Given the description of an element on the screen output the (x, y) to click on. 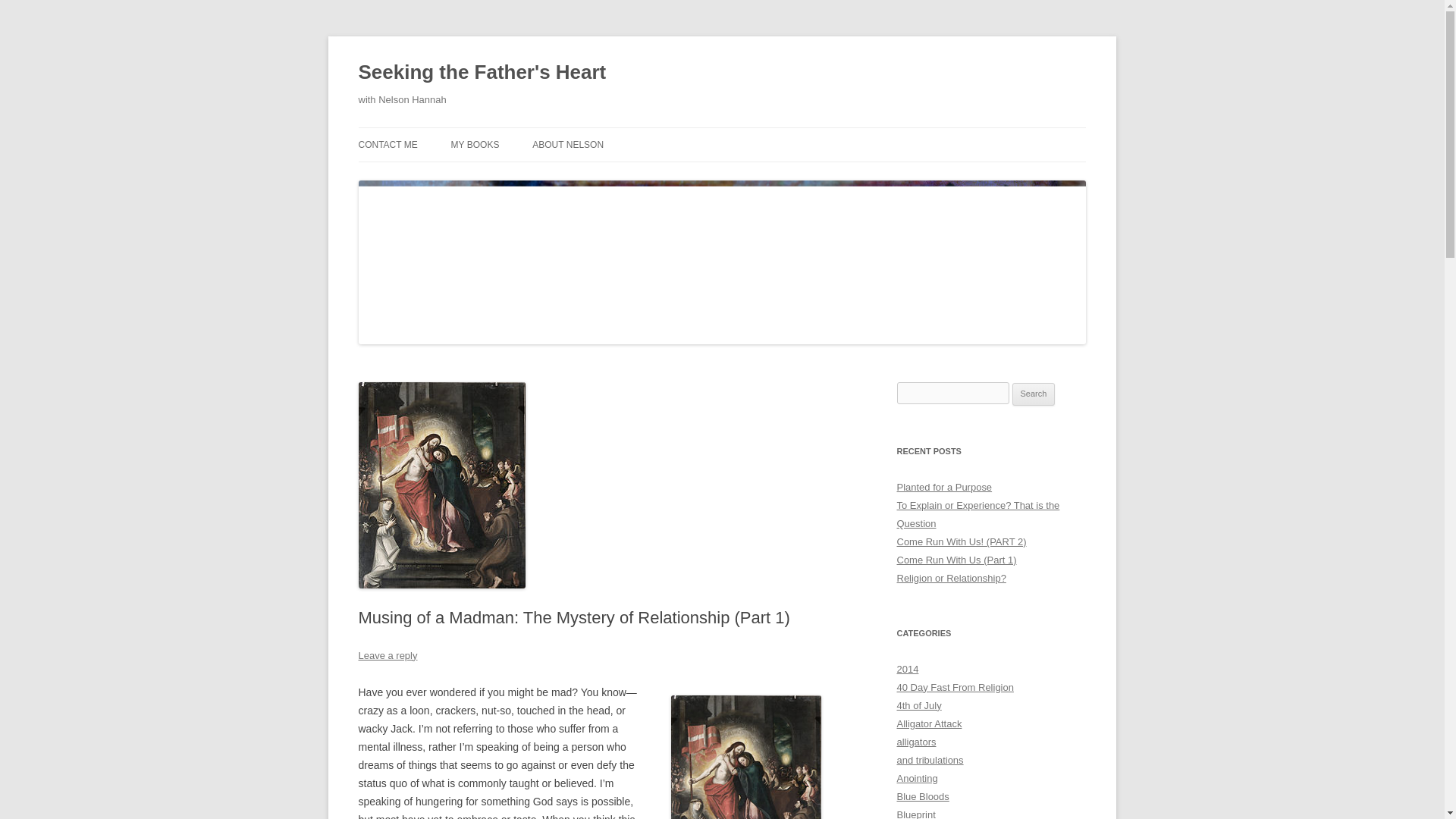
Search (1033, 394)
Leave a reply (387, 655)
MY BOOKS (475, 144)
CONTACT ME (387, 144)
ABOUT NELSON (568, 144)
Search (1033, 394)
Seeking the Father's Heart (481, 72)
Planted for a Purpose (943, 487)
Heart to Heart (746, 757)
